Given the description of an element on the screen output the (x, y) to click on. 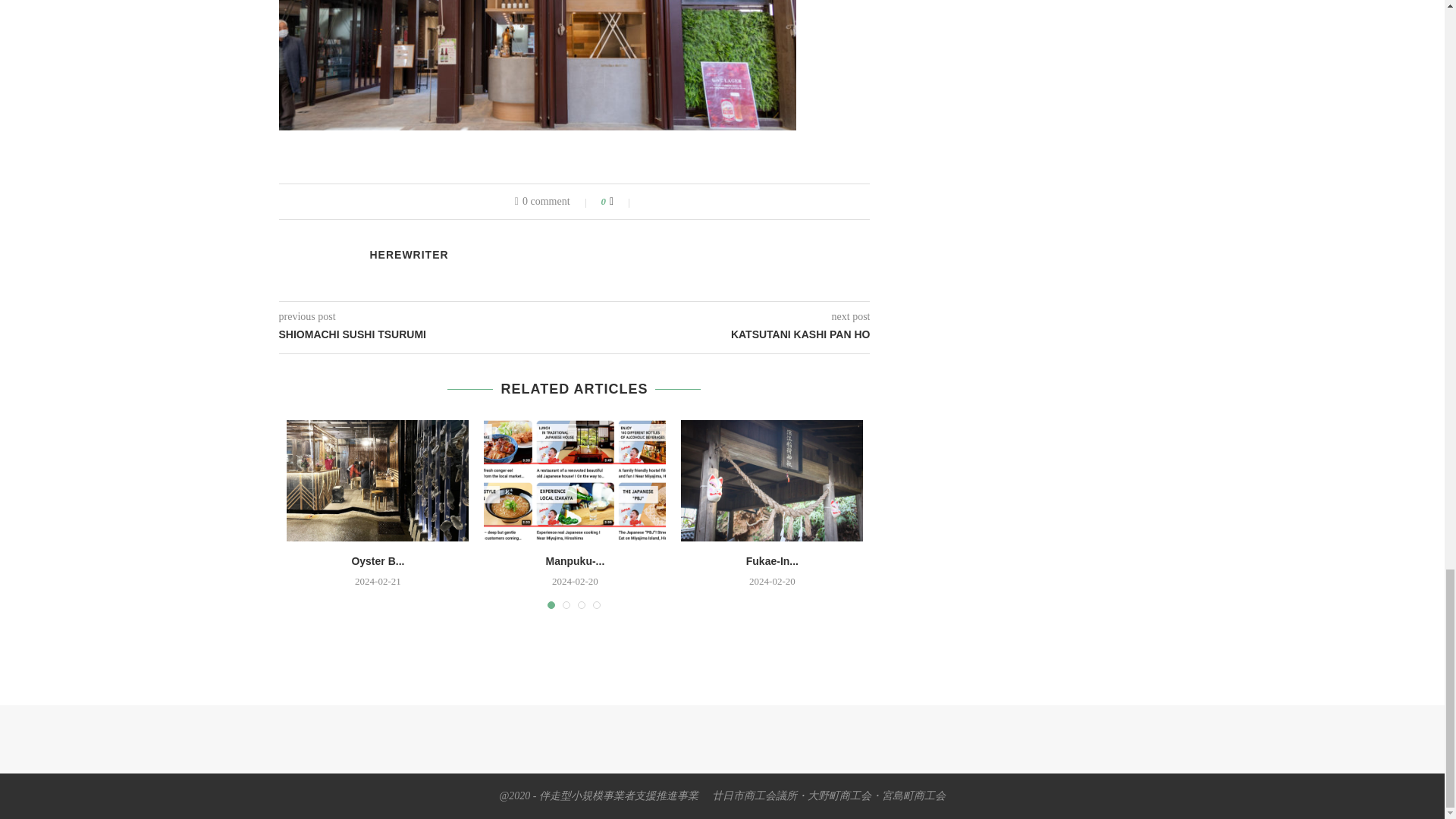
Fukae-Inari Shrine (772, 480)
Like (621, 201)
KATSUTANI KASHI PAN HO (722, 335)
HEREWRITER (408, 254)
SHIOMACHI SUSHI TSURUMI (427, 335)
